Given the description of an element on the screen output the (x, y) to click on. 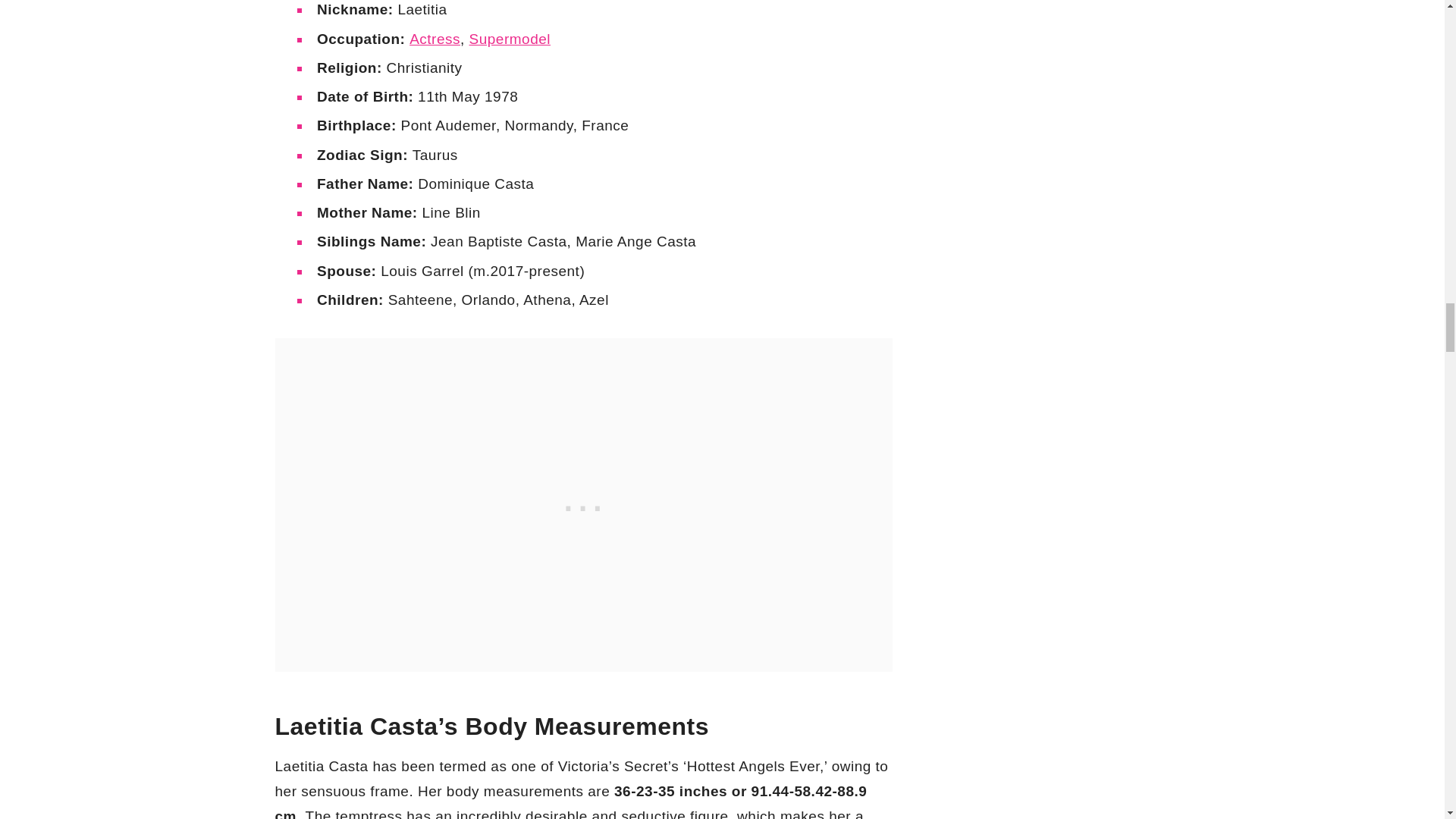
Actress (434, 37)
Supermodel (509, 37)
